Given the description of an element on the screen output the (x, y) to click on. 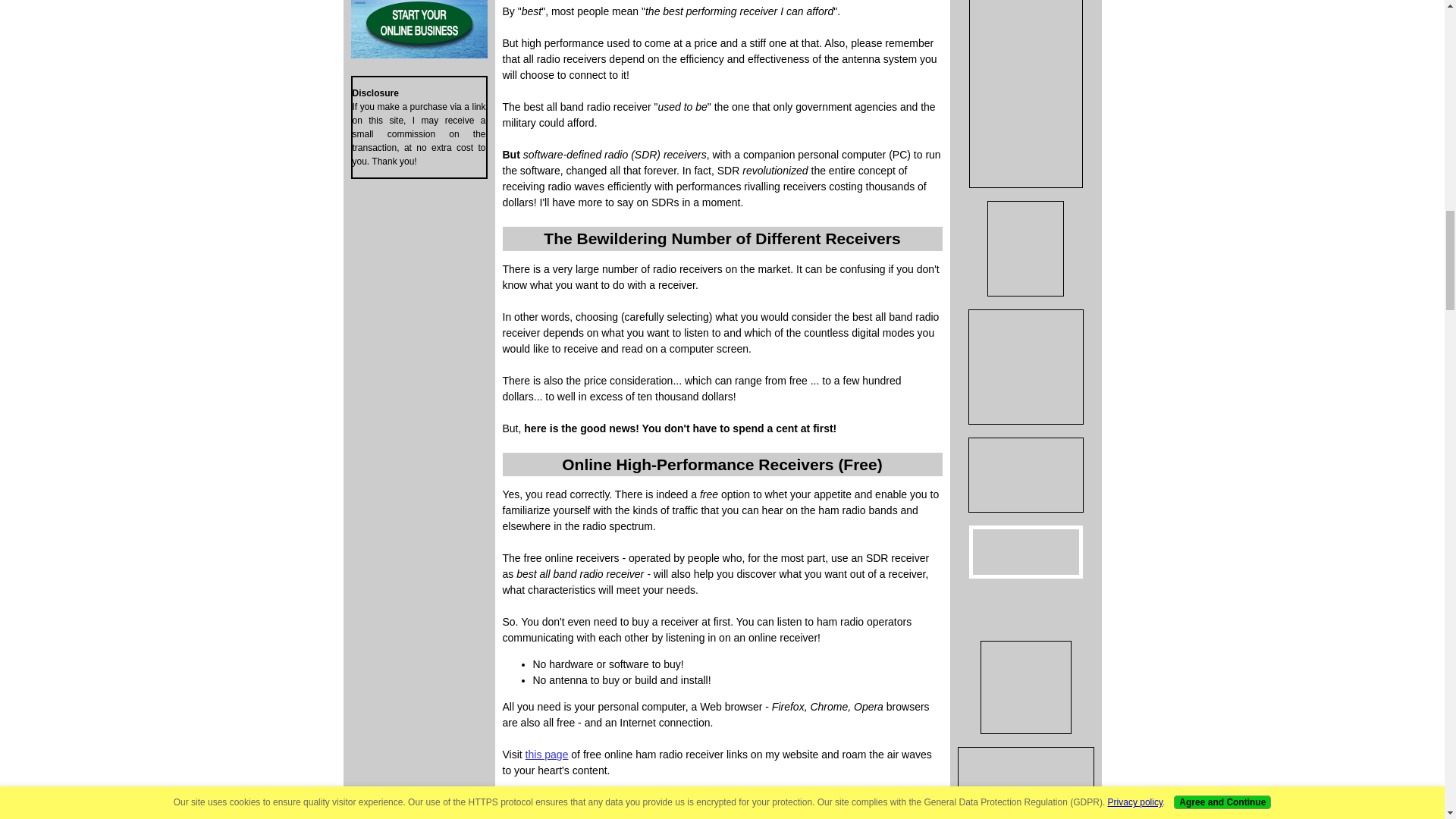
Quarter Century Wireless Association Inc. (1025, 474)
this page (547, 754)
North American QRP CW Club - NAQCC Logo (1024, 686)
Straight Key Century Club - SKCC Logo (1026, 551)
VE2DPE Ham Radio Operator and Solopreneur (1026, 787)
FISTS North America Home Page (1026, 609)
